Given the description of an element on the screen output the (x, y) to click on. 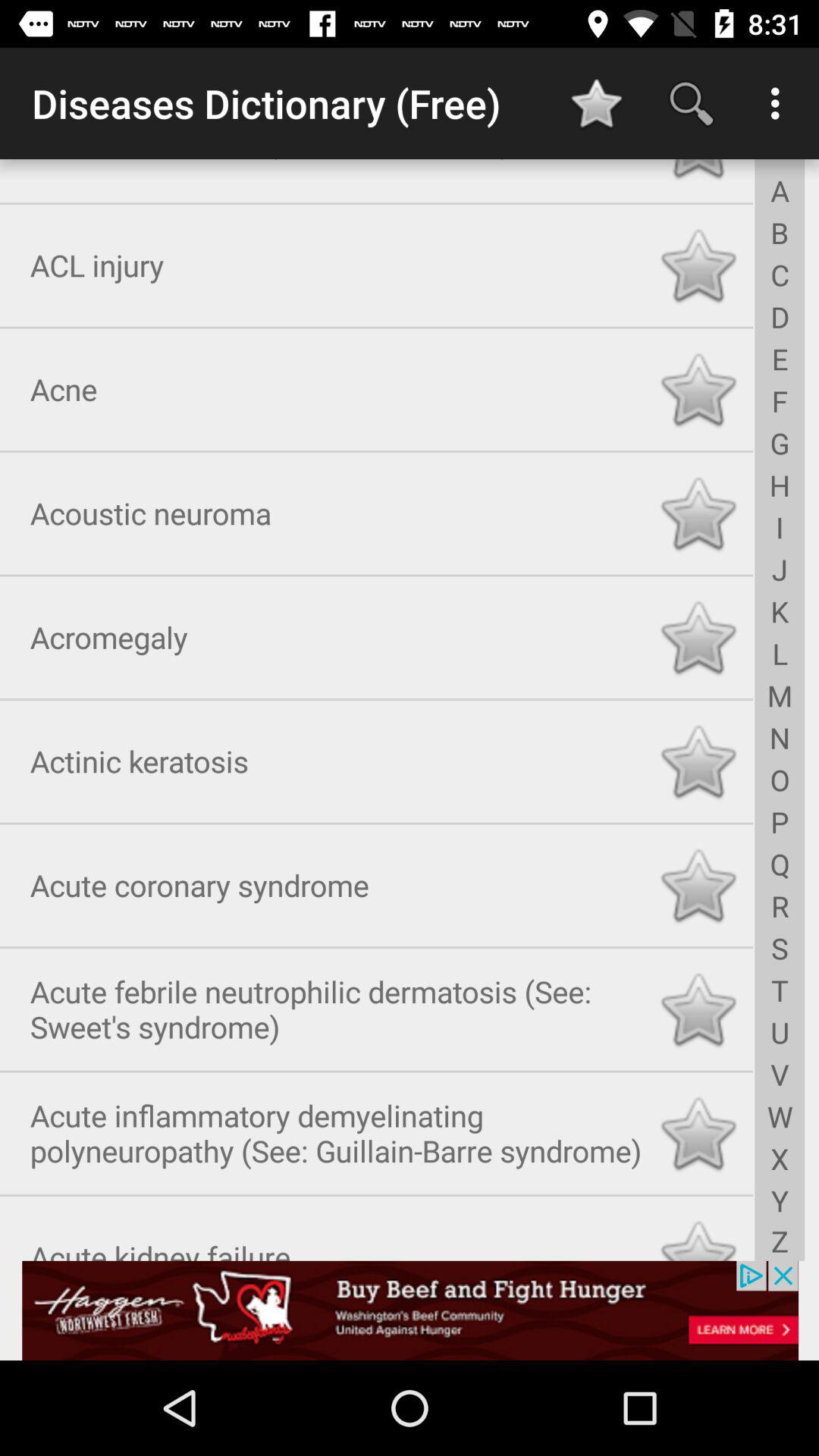
highlight the favorite (697, 634)
